Given the description of an element on the screen output the (x, y) to click on. 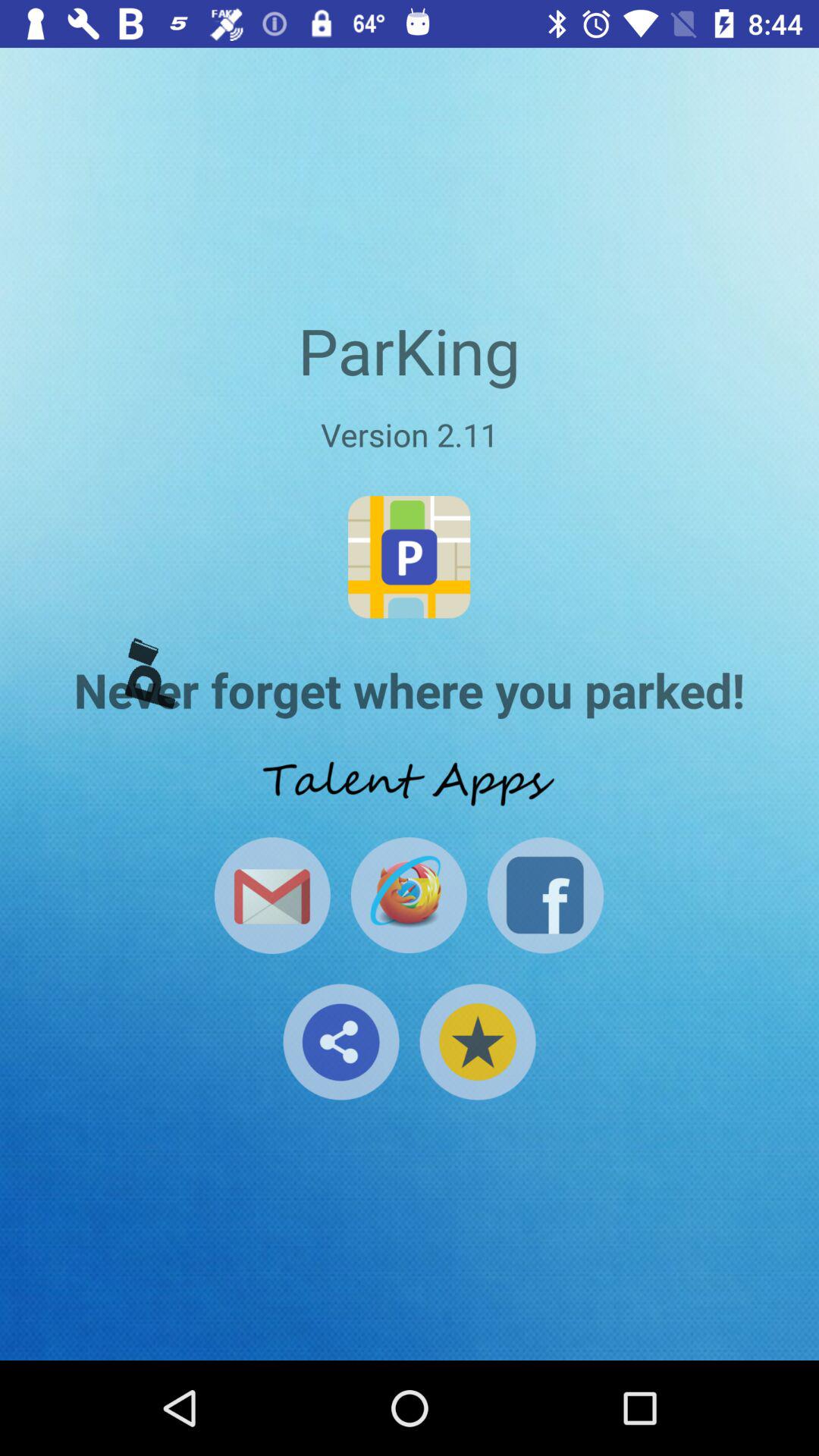
share to facebook (545, 895)
